Given the description of an element on the screen output the (x, y) to click on. 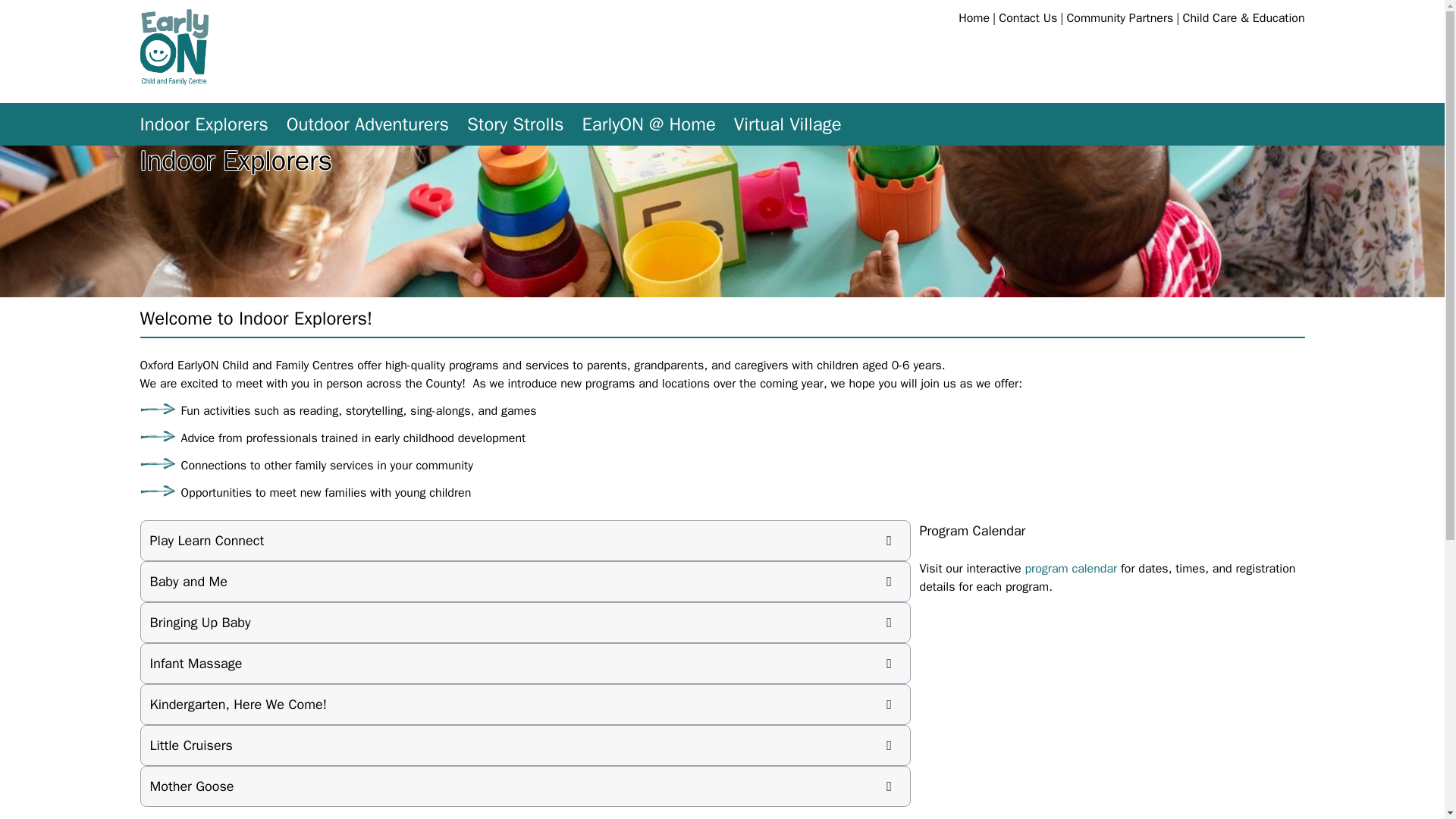
Play Learn Connect (525, 540)
 program calendar  (1071, 568)
Community Partners (1119, 17)
Story Strolls (515, 124)
Infant Massage (525, 663)
Baby and Me (525, 581)
Mother Goose (525, 785)
Little Cruisers (525, 744)
Bringing Up Baby (525, 622)
Home (974, 17)
